Given the description of an element on the screen output the (x, y) to click on. 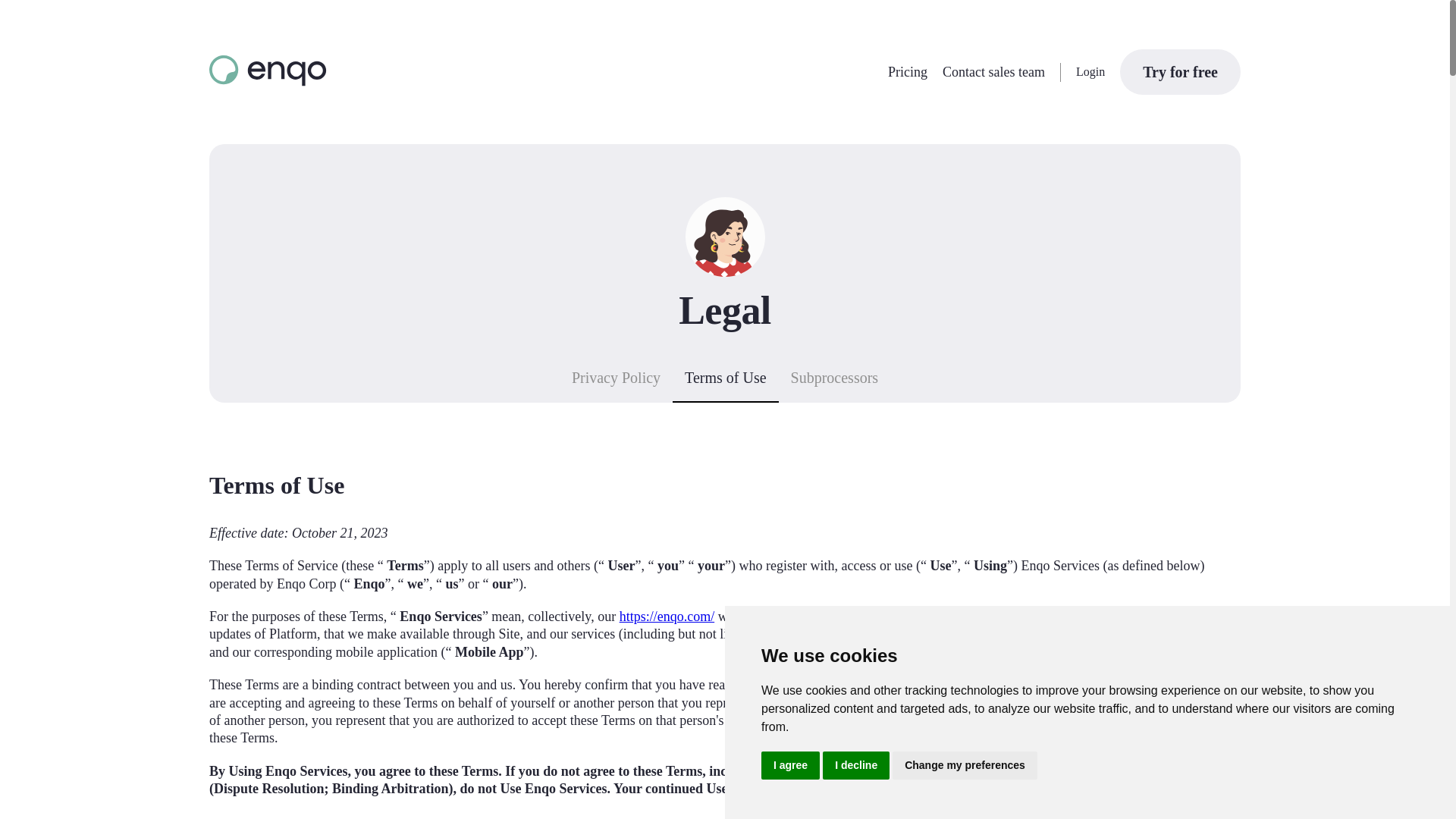
I agree (790, 765)
Contact sales team (993, 71)
Pricing (907, 71)
Login (1090, 71)
Change my preferences (964, 765)
Try for free (1179, 72)
Privacy Policy (615, 381)
Terms of Use (724, 381)
Subprocessors (834, 381)
I decline (855, 765)
